Given the description of an element on the screen output the (x, y) to click on. 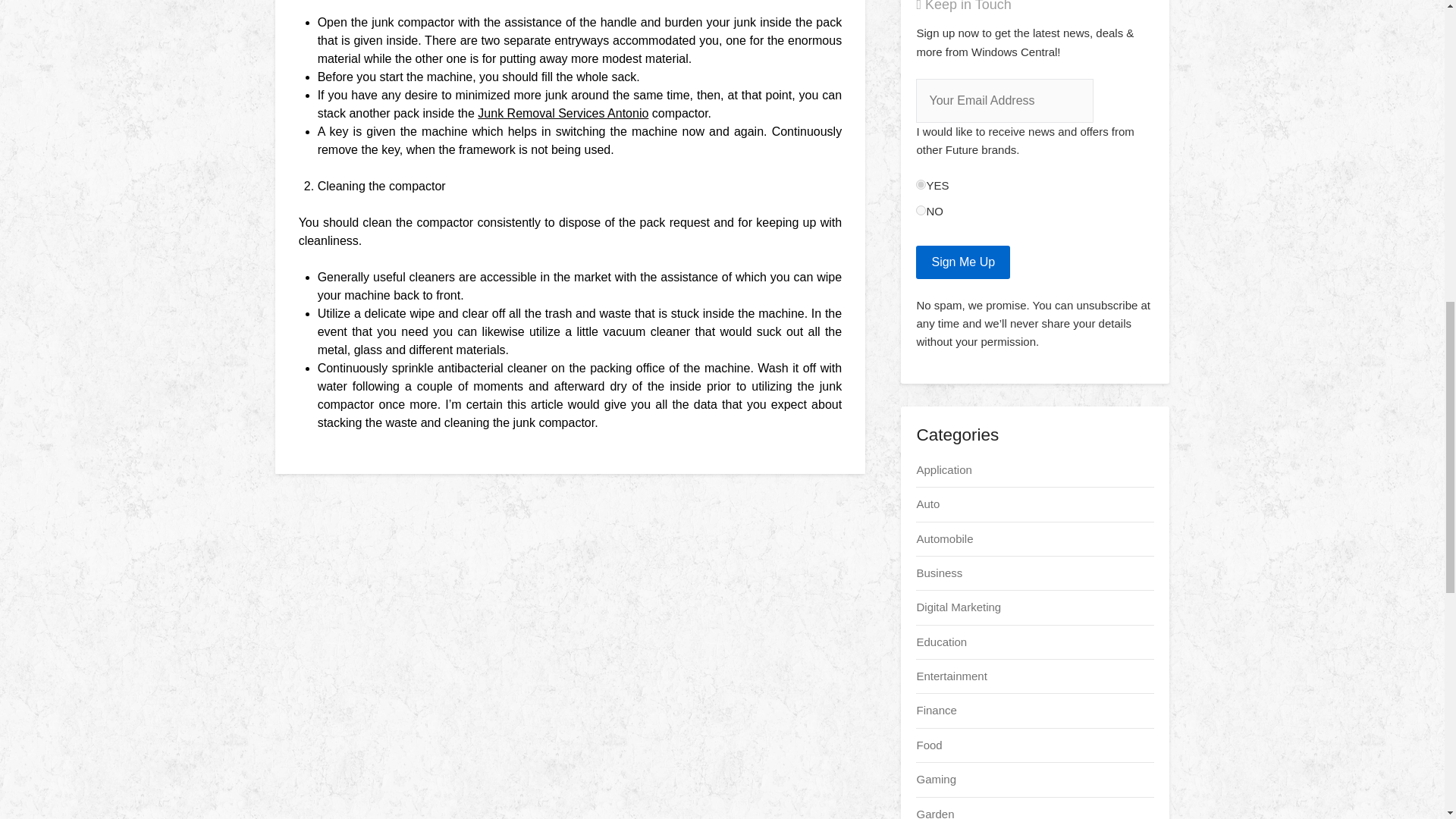
Education (940, 641)
Finance (935, 709)
Junk Removal Services Antonio (562, 113)
Automobile (943, 538)
1 (920, 184)
Entertainment (951, 675)
Food (928, 744)
Application (943, 469)
0 (920, 210)
Digital Marketing (958, 606)
